Given the description of an element on the screen output the (x, y) to click on. 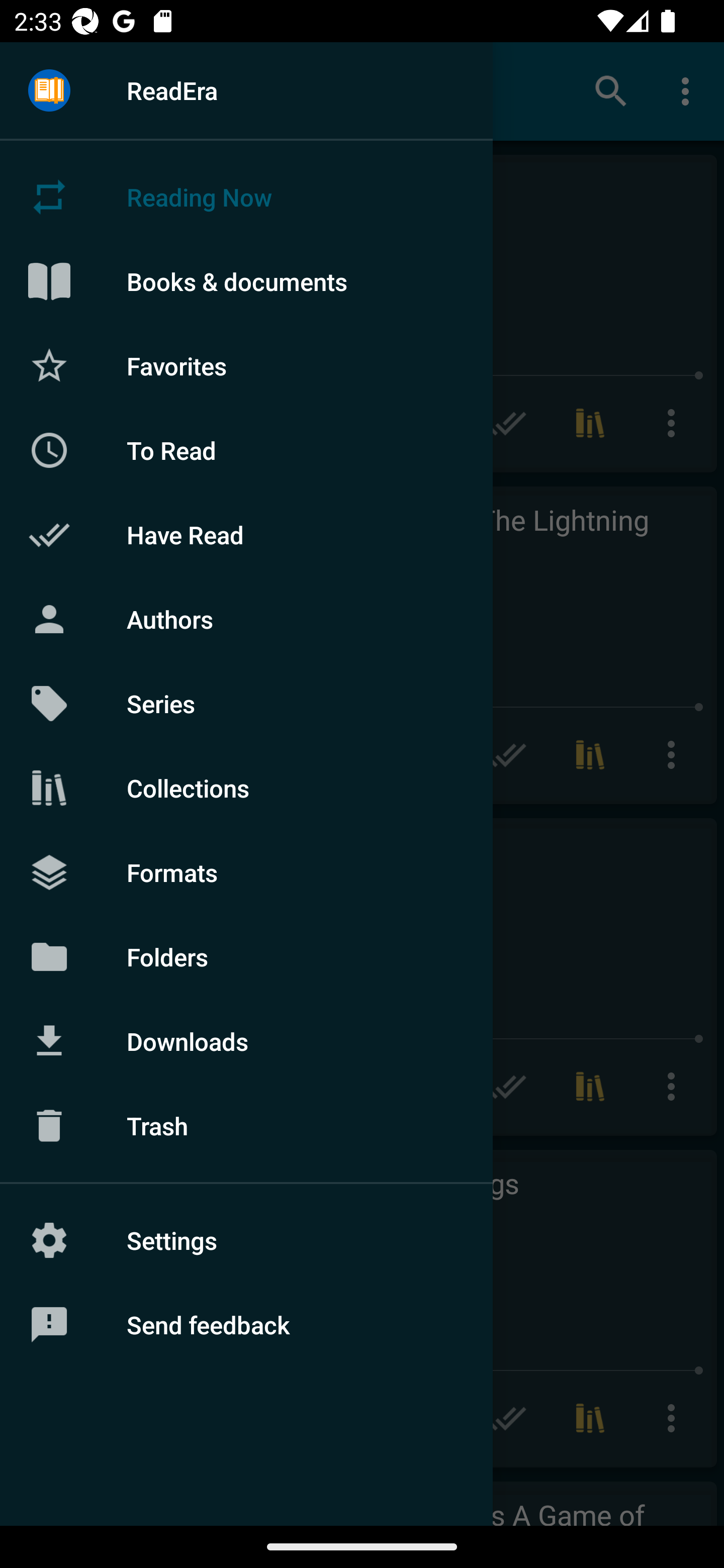
Menu (49, 91)
ReadEra (246, 89)
Search books & documents (611, 90)
More options (688, 90)
Reading Now (246, 197)
Books & documents (246, 281)
Favorites (246, 365)
To Read (246, 449)
Have Read (246, 534)
Authors (246, 619)
Series (246, 703)
Collections (246, 787)
Formats (246, 871)
Folders (246, 956)
Downloads (246, 1040)
Trash (246, 1125)
Settings (246, 1239)
Send feedback (246, 1324)
